Given the description of an element on the screen output the (x, y) to click on. 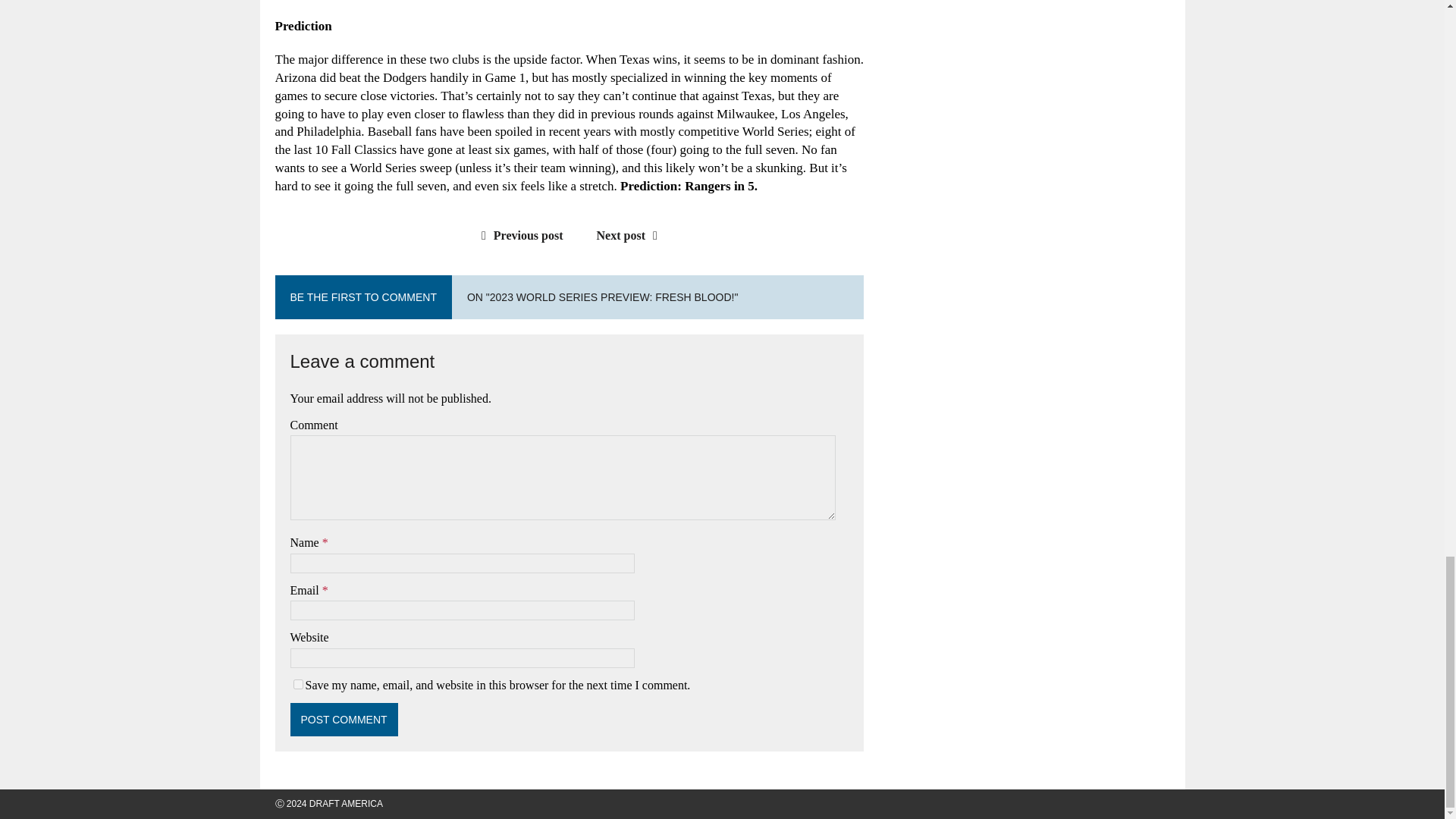
yes (297, 684)
Post Comment (343, 719)
